Given the description of an element on the screen output the (x, y) to click on. 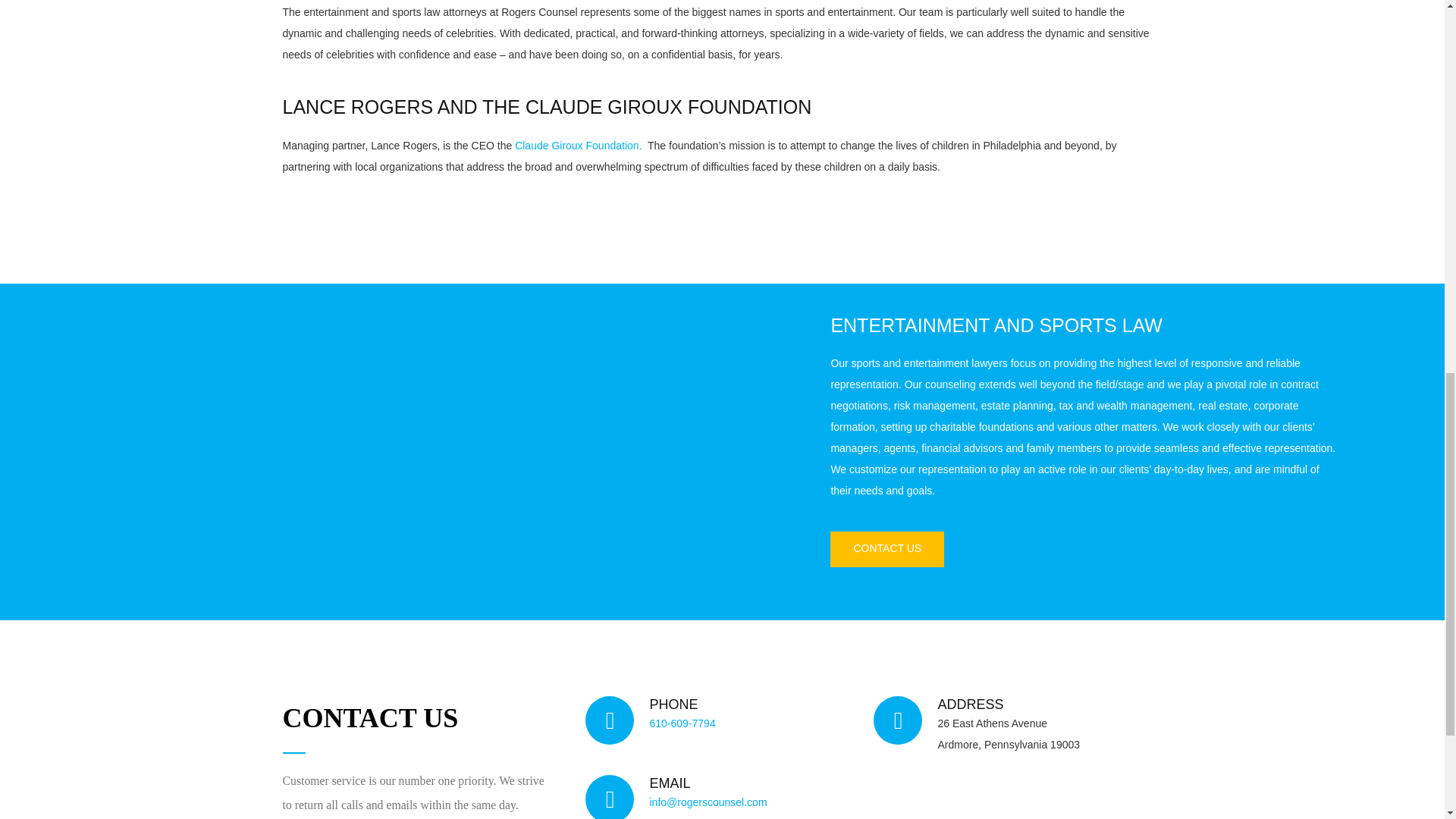
Claude Giroux Foundation. (578, 145)
